Given the description of an element on the screen output the (x, y) to click on. 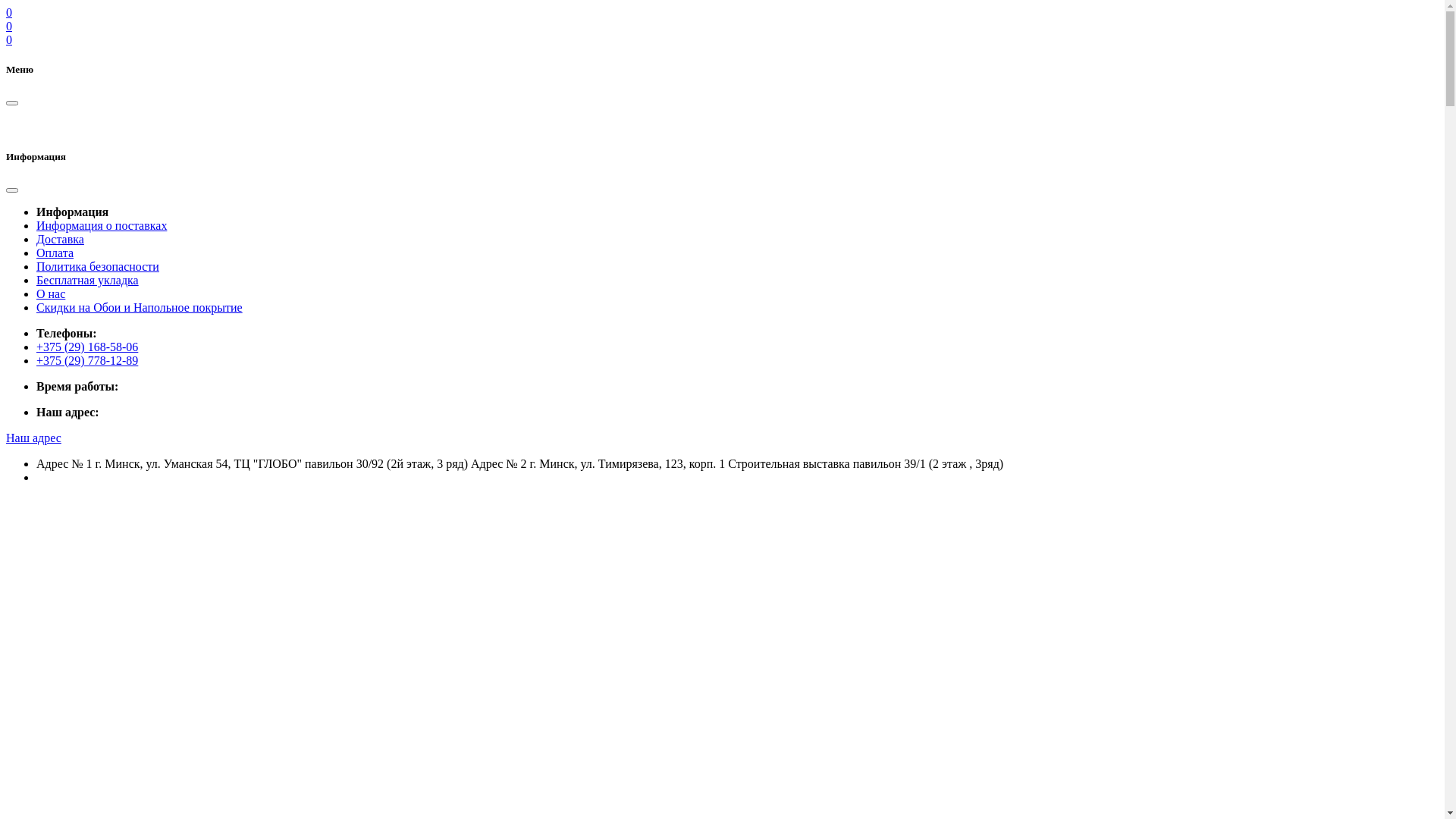
0 Element type: text (9, 39)
0 Element type: text (9, 25)
+375 (29) 778-12-89 Element type: text (87, 360)
+375 (29) 168-58-06 Element type: text (87, 346)
0 Element type: text (9, 12)
